Given the description of an element on the screen output the (x, y) to click on. 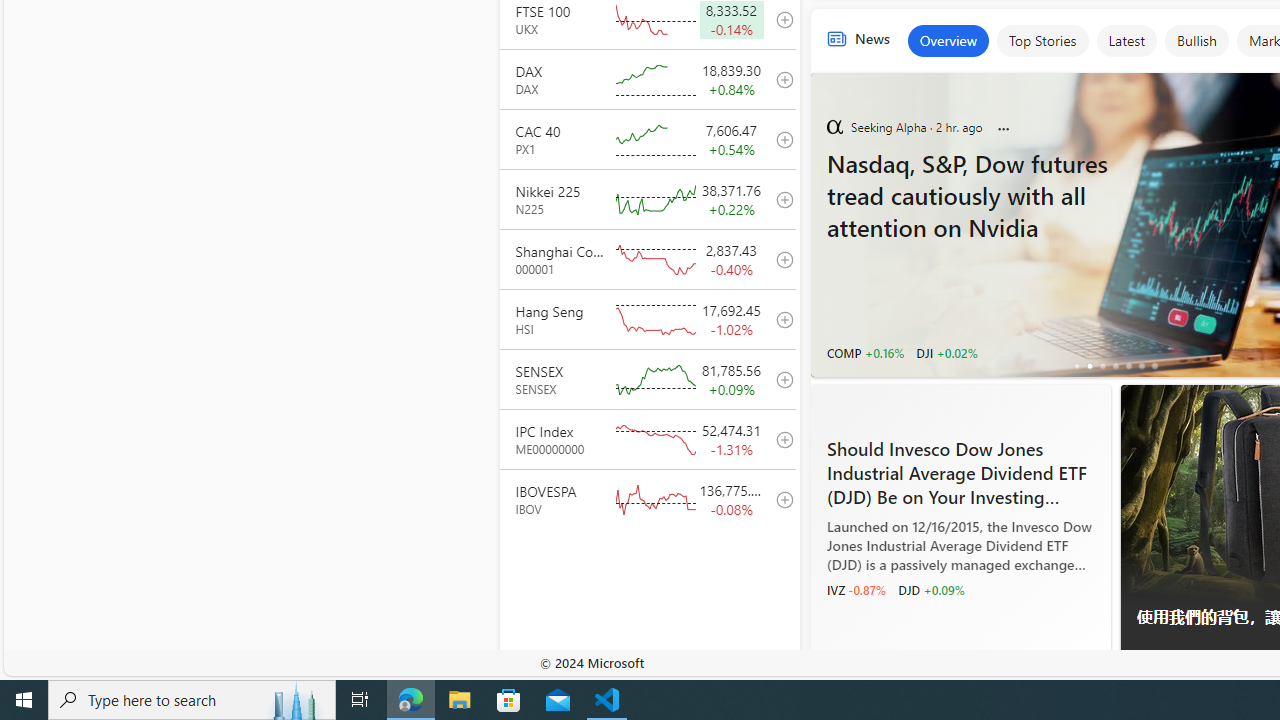
Seeking Alpha (834, 126)
DJI +0.02% (946, 352)
Bullish (1195, 40)
Overview (948, 40)
add to your watchlist (779, 498)
